Given the description of an element on the screen output the (x, y) to click on. 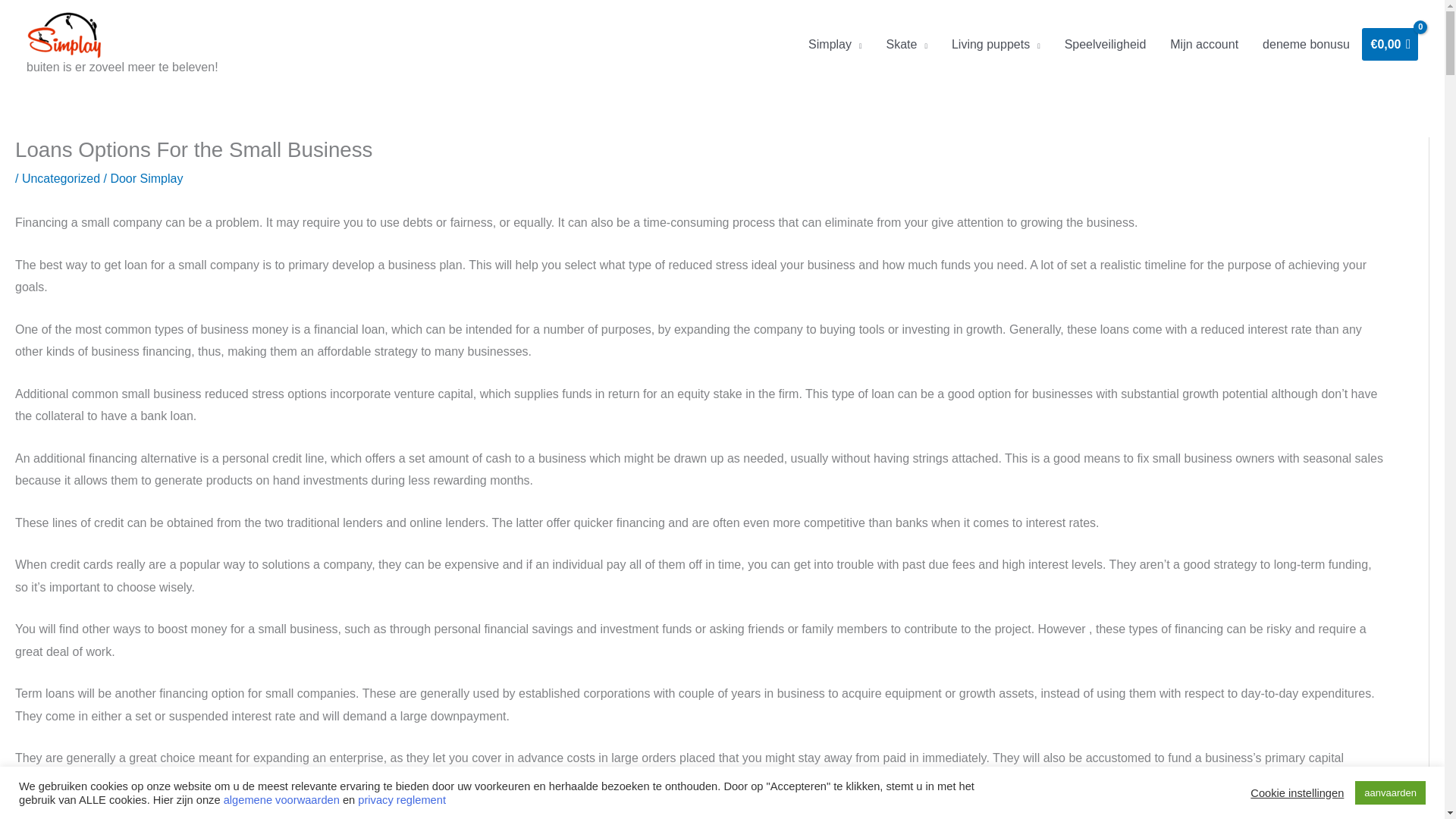
Living puppets (995, 44)
deneme bonusu (1305, 44)
Mijn account (1203, 44)
Speelveiligheid (1105, 44)
Bekijk alle berichten van Simplay (161, 178)
